Given the description of an element on the screen output the (x, y) to click on. 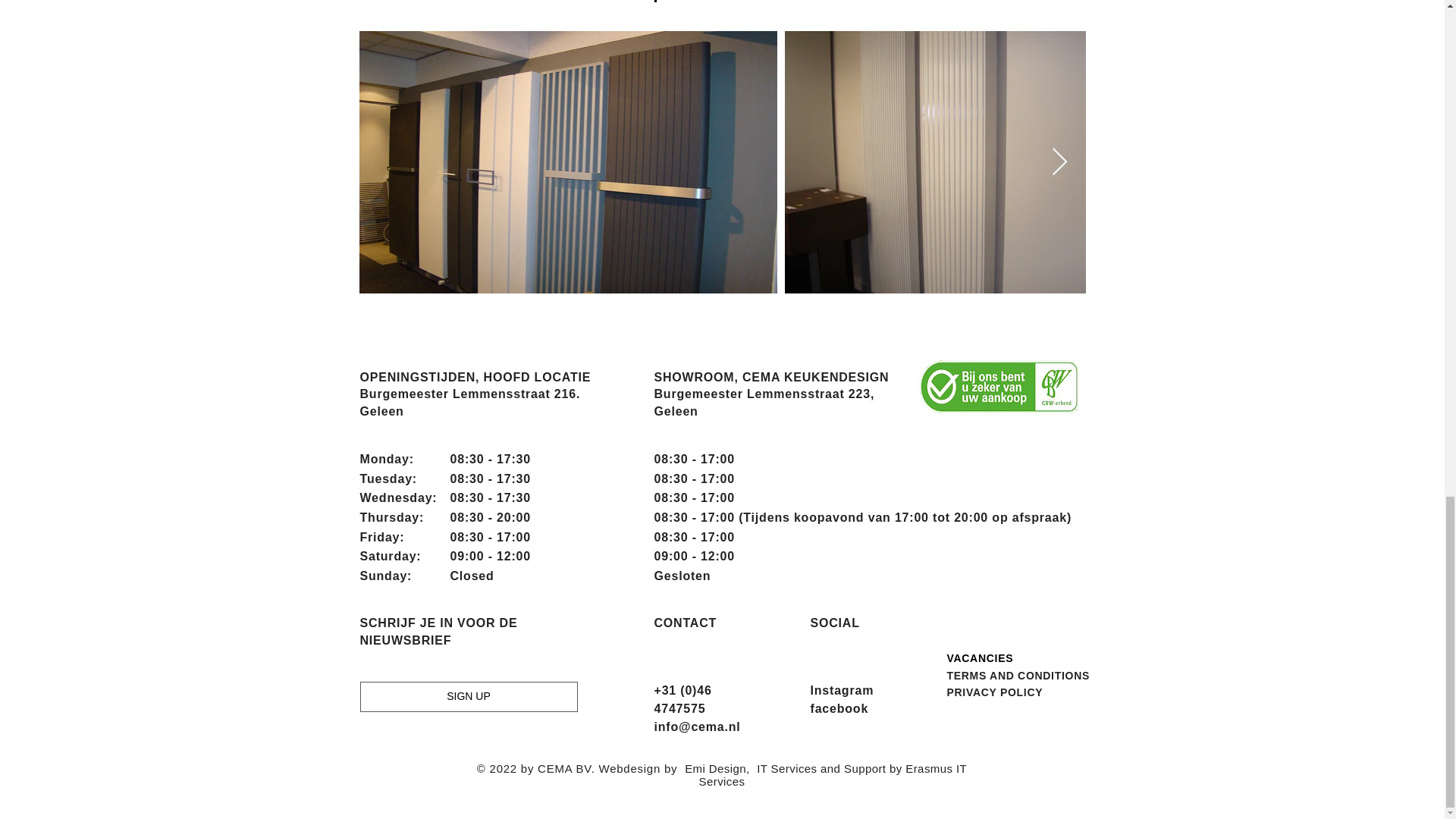
facebook (838, 707)
SIGN UP (467, 696)
Schermafbeelding 2022-03-23 om 16.11.50.png (999, 385)
VACANCIES (979, 657)
TERMS AND CONDITIONS (1017, 675)
IT Services and Support by Erasmus IT Services (833, 774)
PRIVACY POLICY (994, 692)
Webdesign by  Emi Design,  (676, 768)
